Given the description of an element on the screen output the (x, y) to click on. 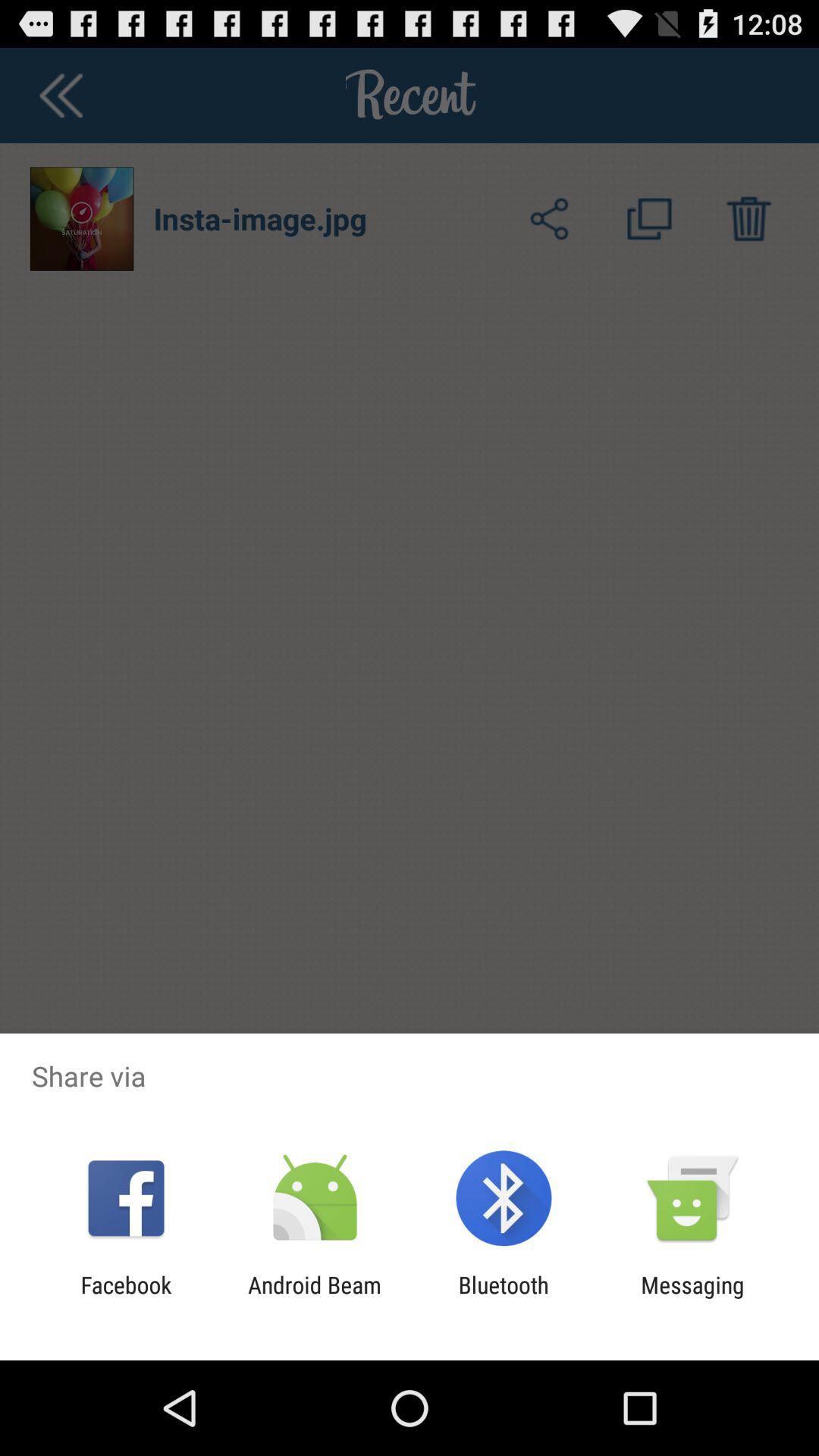
turn on the item to the left of android beam item (125, 1298)
